Given the description of an element on the screen output the (x, y) to click on. 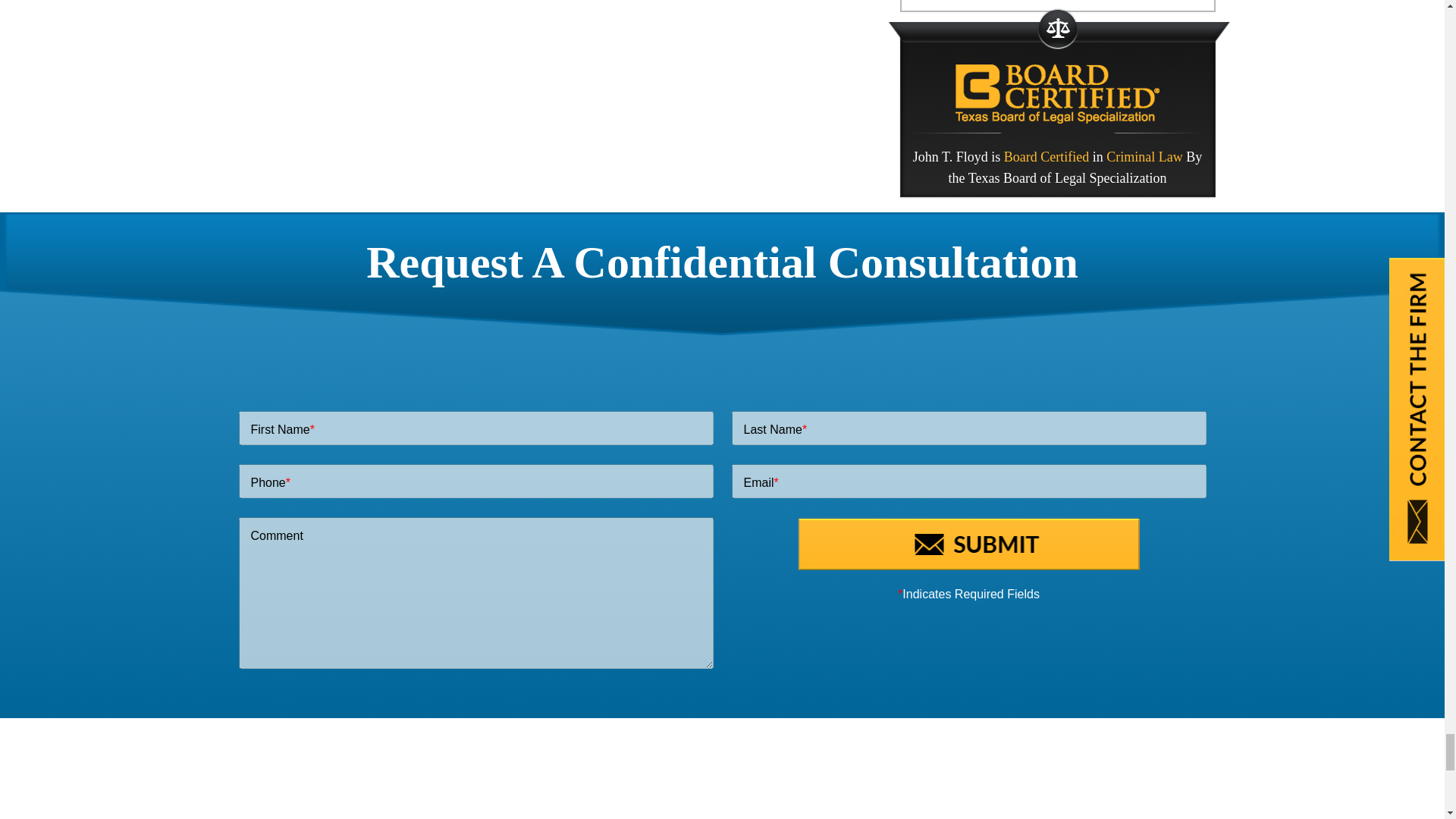
Submit (967, 543)
